Given the description of an element on the screen output the (x, y) to click on. 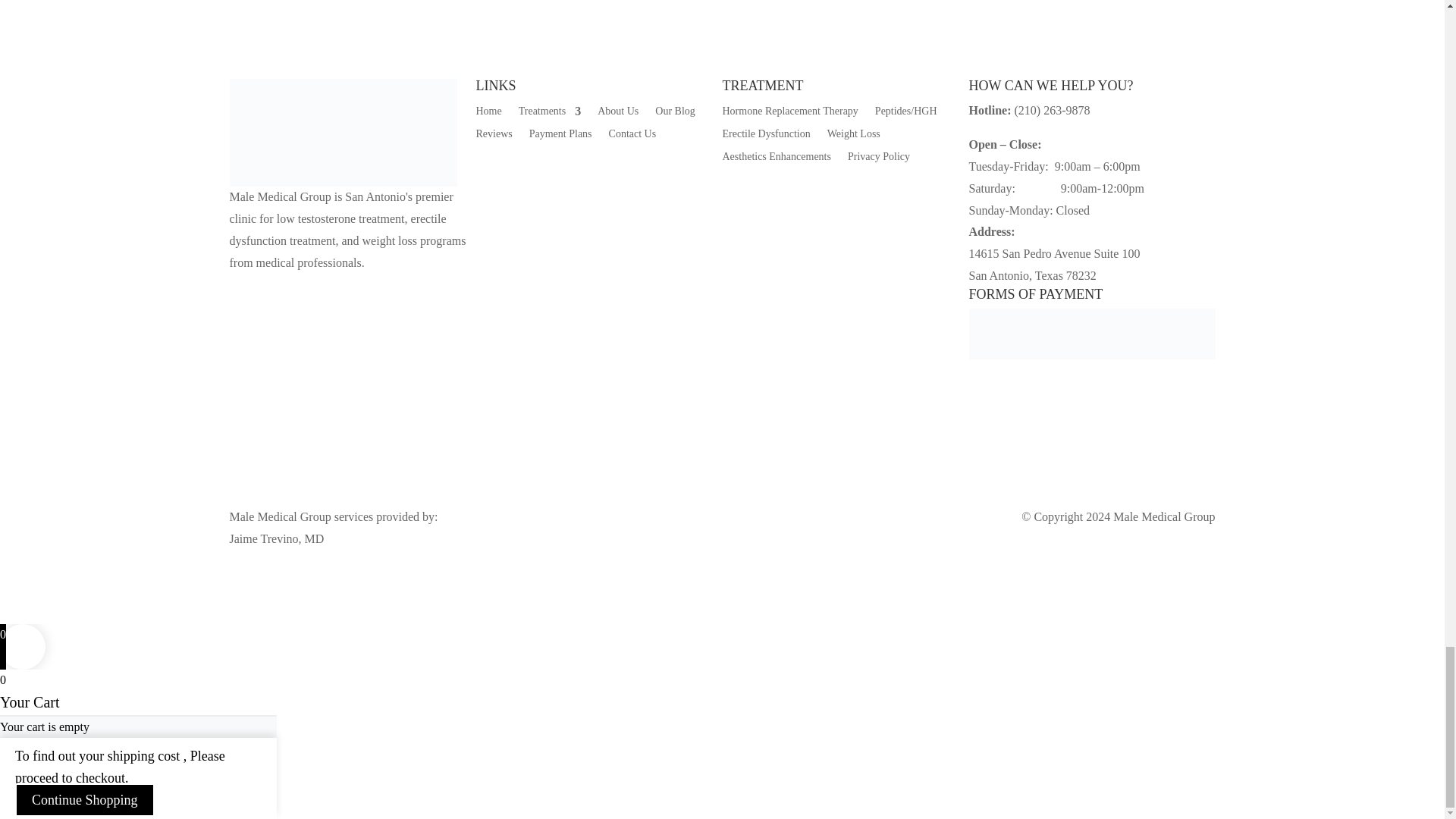
6220ac0f912013c51947f9c4 (1092, 334)
Follow on Instagram (271, 286)
For Him - Logo (342, 132)
Follow on Facebook (240, 286)
Follow on TikTok (301, 286)
